Given the description of an element on the screen output the (x, y) to click on. 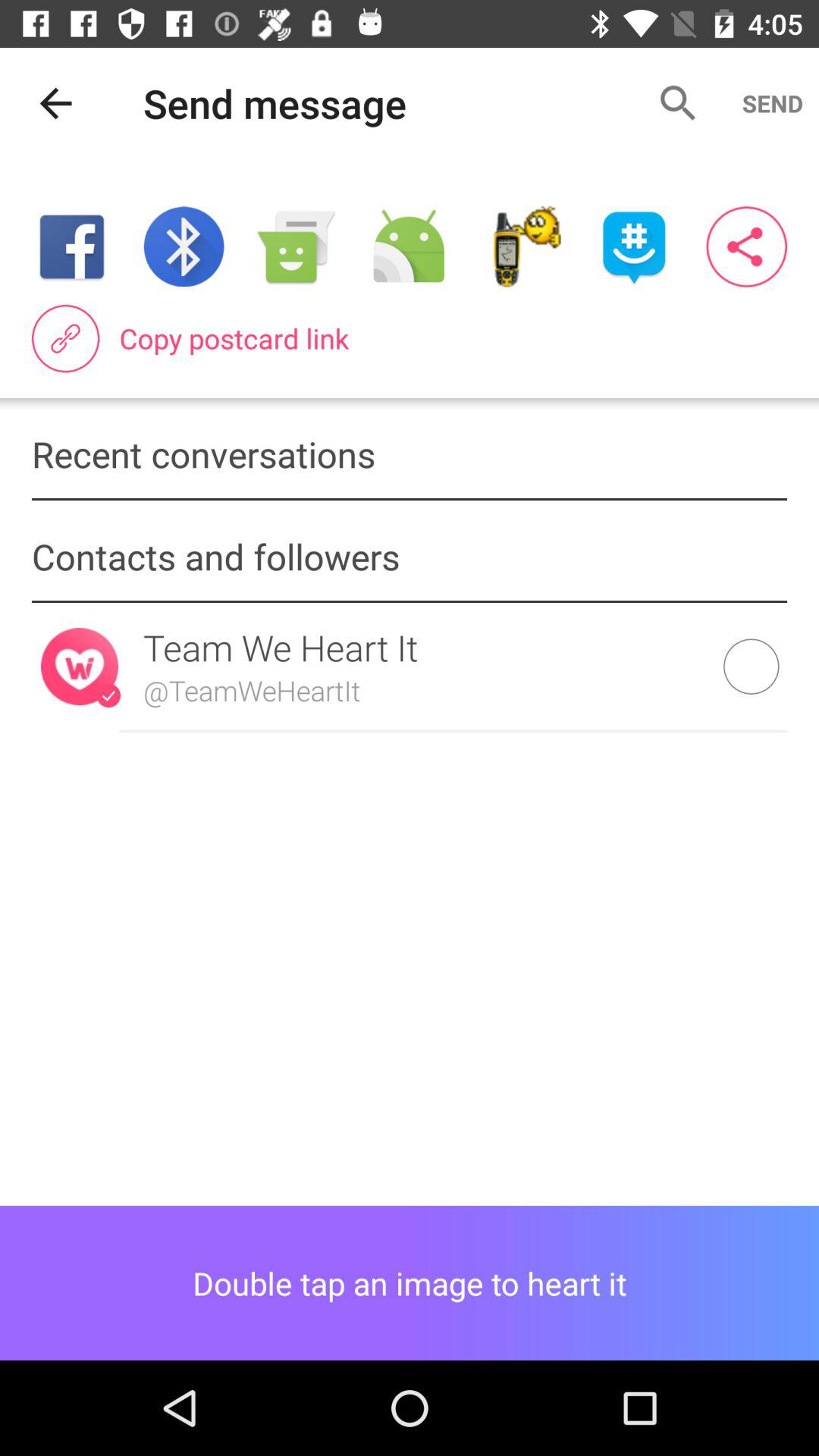
click the icon above copy postcard link icon (183, 246)
